Given the description of an element on the screen output the (x, y) to click on. 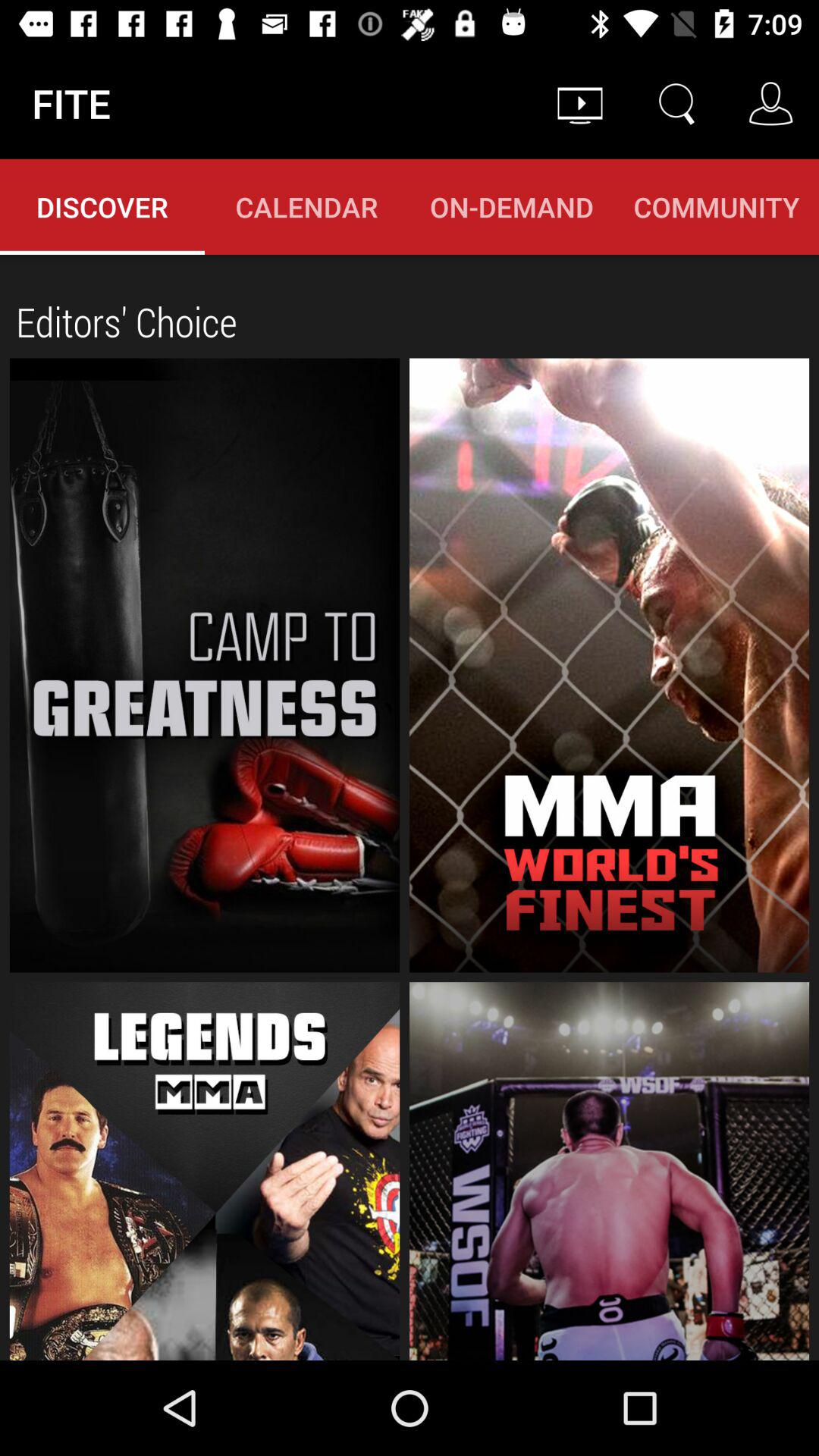
play (204, 1171)
